Given the description of an element on the screen output the (x, y) to click on. 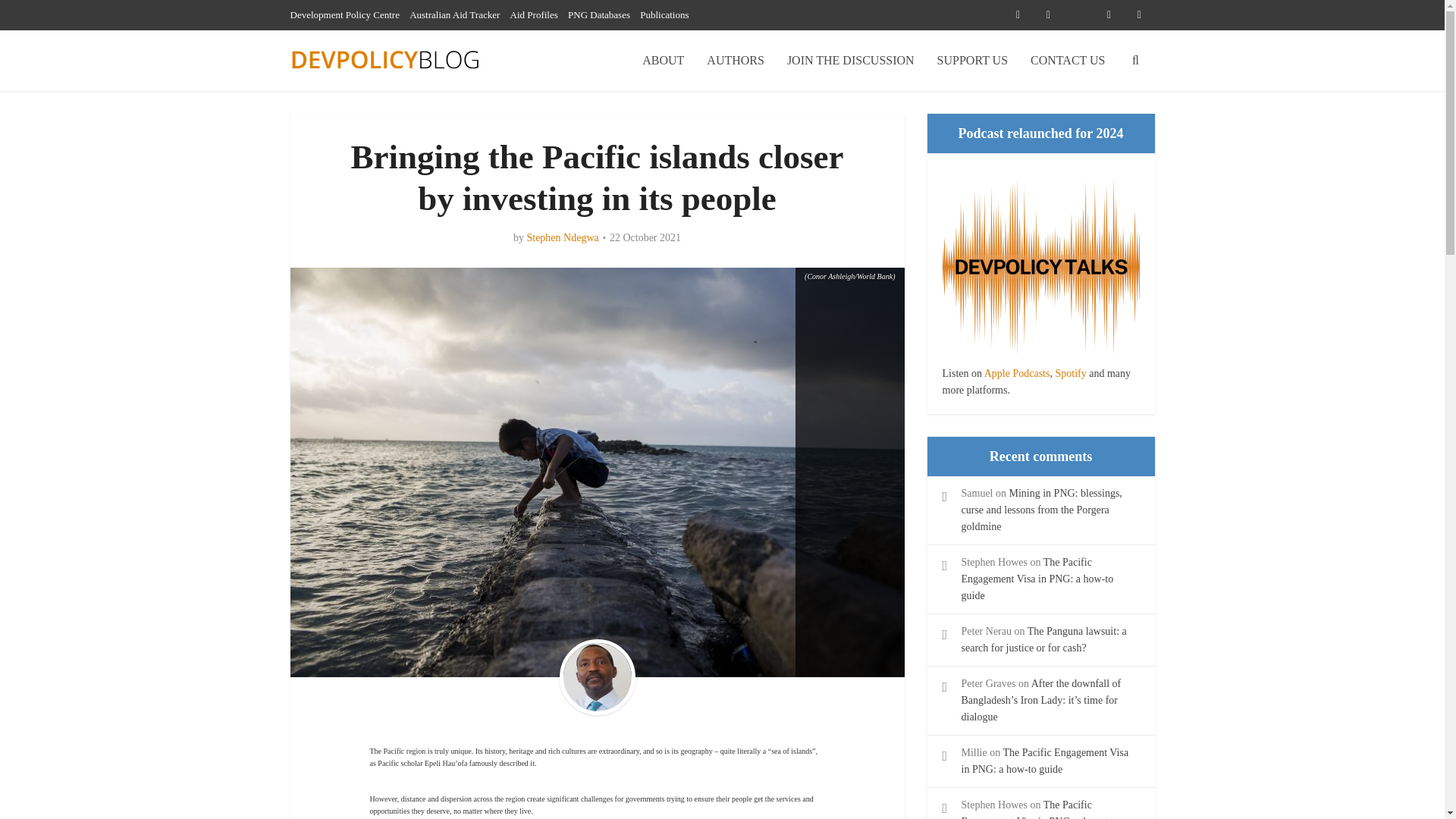
Aid Profiles (534, 14)
AUTHORS (735, 60)
SUPPORT US (972, 60)
Development Policy Centre (343, 14)
ABOUT (662, 60)
JOIN THE DISCUSSION (851, 60)
PNG Databases (598, 14)
Stephen Ndegwa (561, 237)
Australian Aid Tracker (454, 14)
Publications (664, 14)
